Given the description of an element on the screen output the (x, y) to click on. 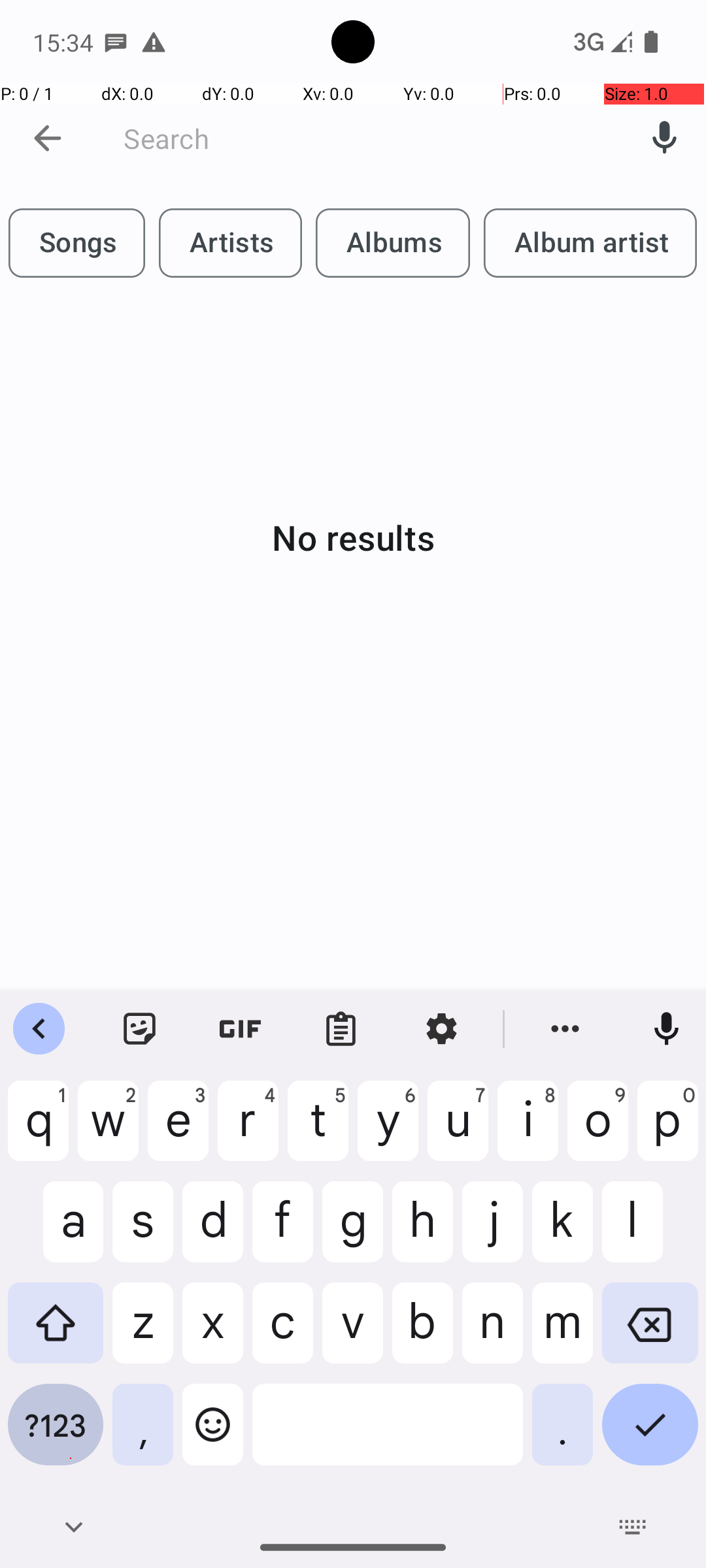
No results Element type: android.widget.TextView (352, 537)
Album artist Element type: android.widget.RadioButton (589, 242)
